Given the description of an element on the screen output the (x, y) to click on. 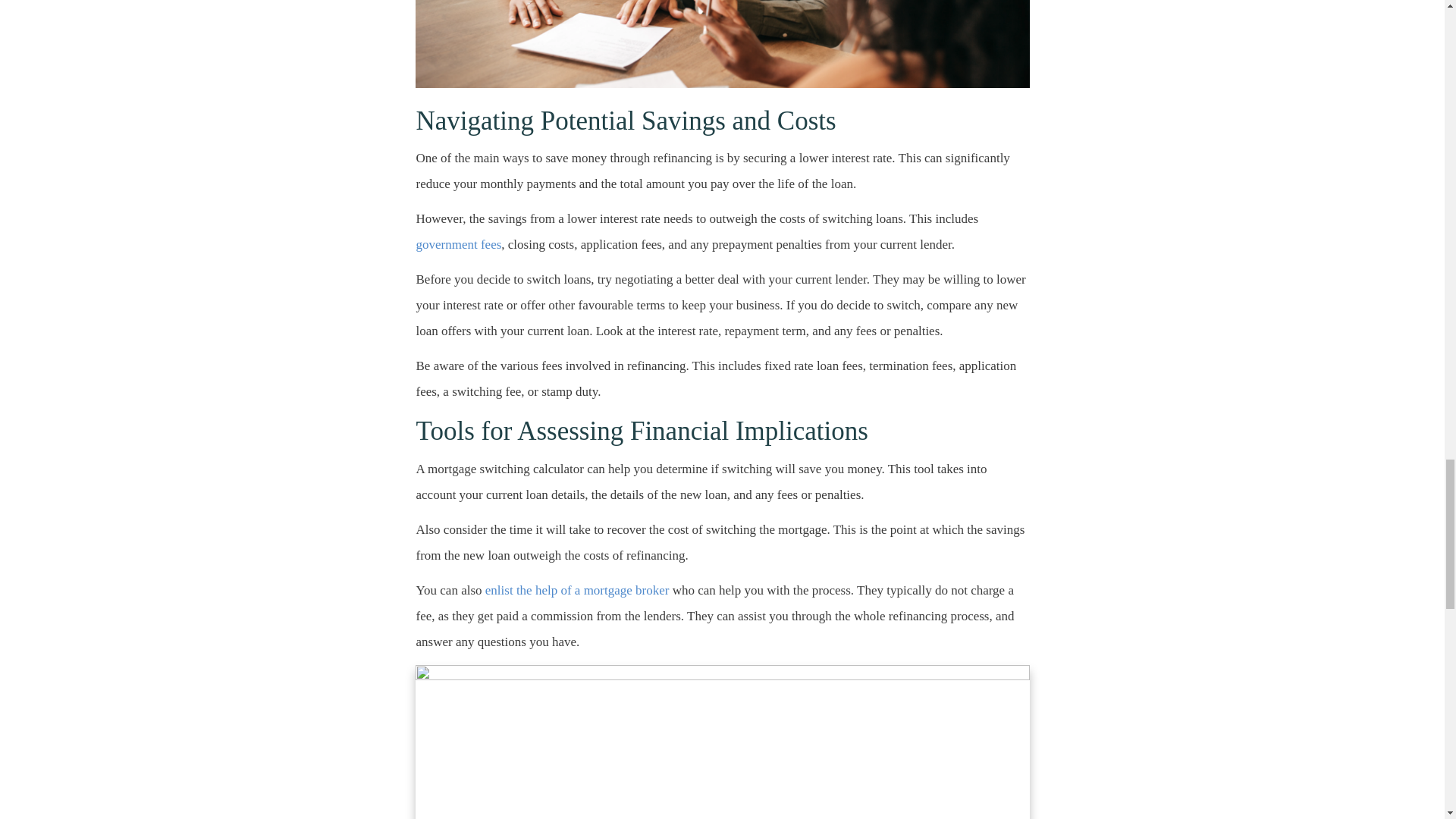
Principal Mortgages (721, 742)
joint mortgage (721, 43)
government fees (696, 257)
enlist the help of a mortgage broker (578, 590)
